Given the description of an element on the screen output the (x, y) to click on. 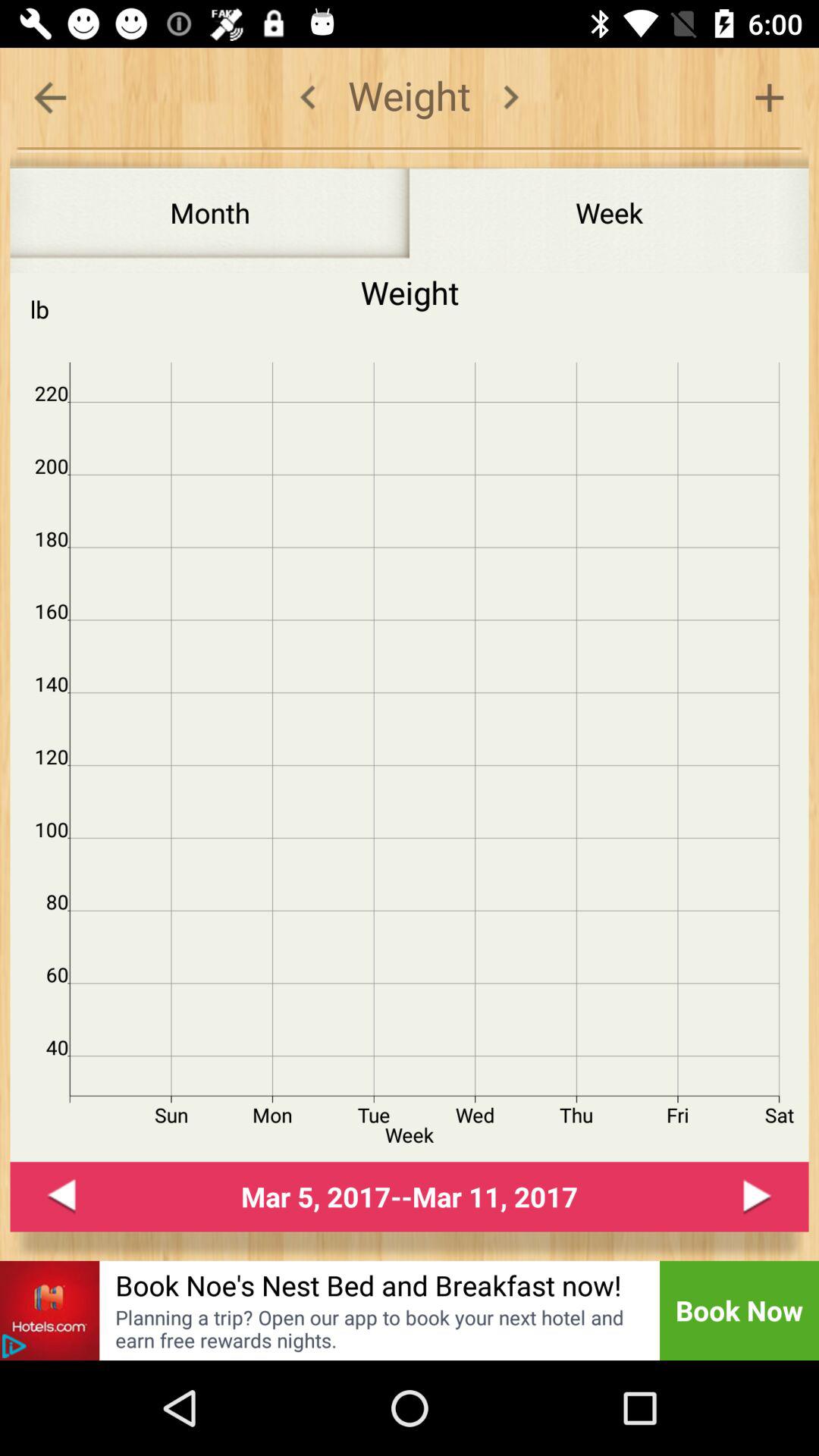
click to go to hotels.com (49, 1310)
